Given the description of an element on the screen output the (x, y) to click on. 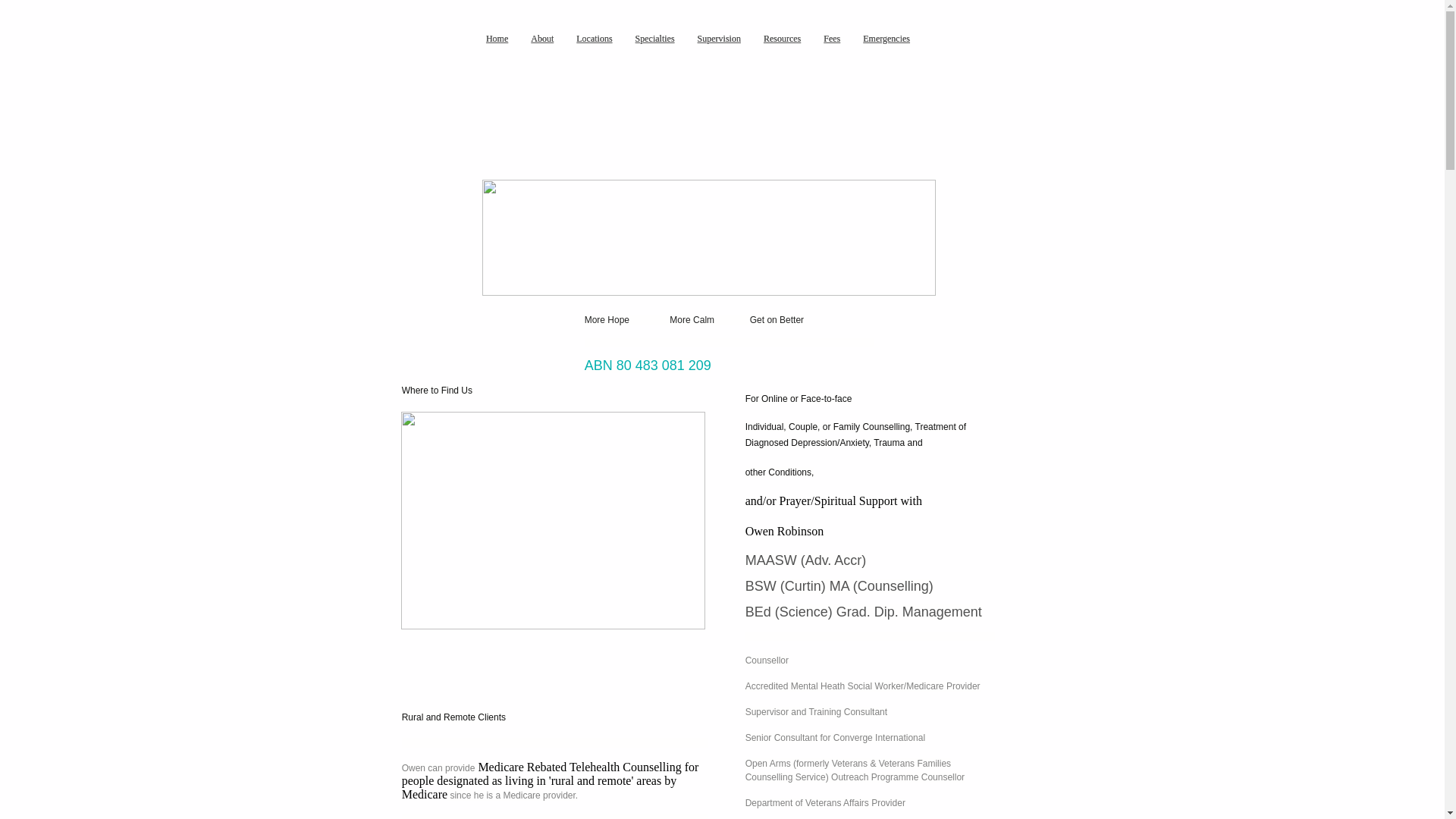
Emergencies Element type: text (886, 38)
Specialties Element type: text (654, 38)
About Element type: text (541, 38)
Supervision Element type: text (718, 38)
Resources Element type: text (781, 38)
Locations Element type: text (593, 38)
Fees Element type: text (831, 38)
Home Element type: text (497, 38)
